Given the description of an element on the screen output the (x, y) to click on. 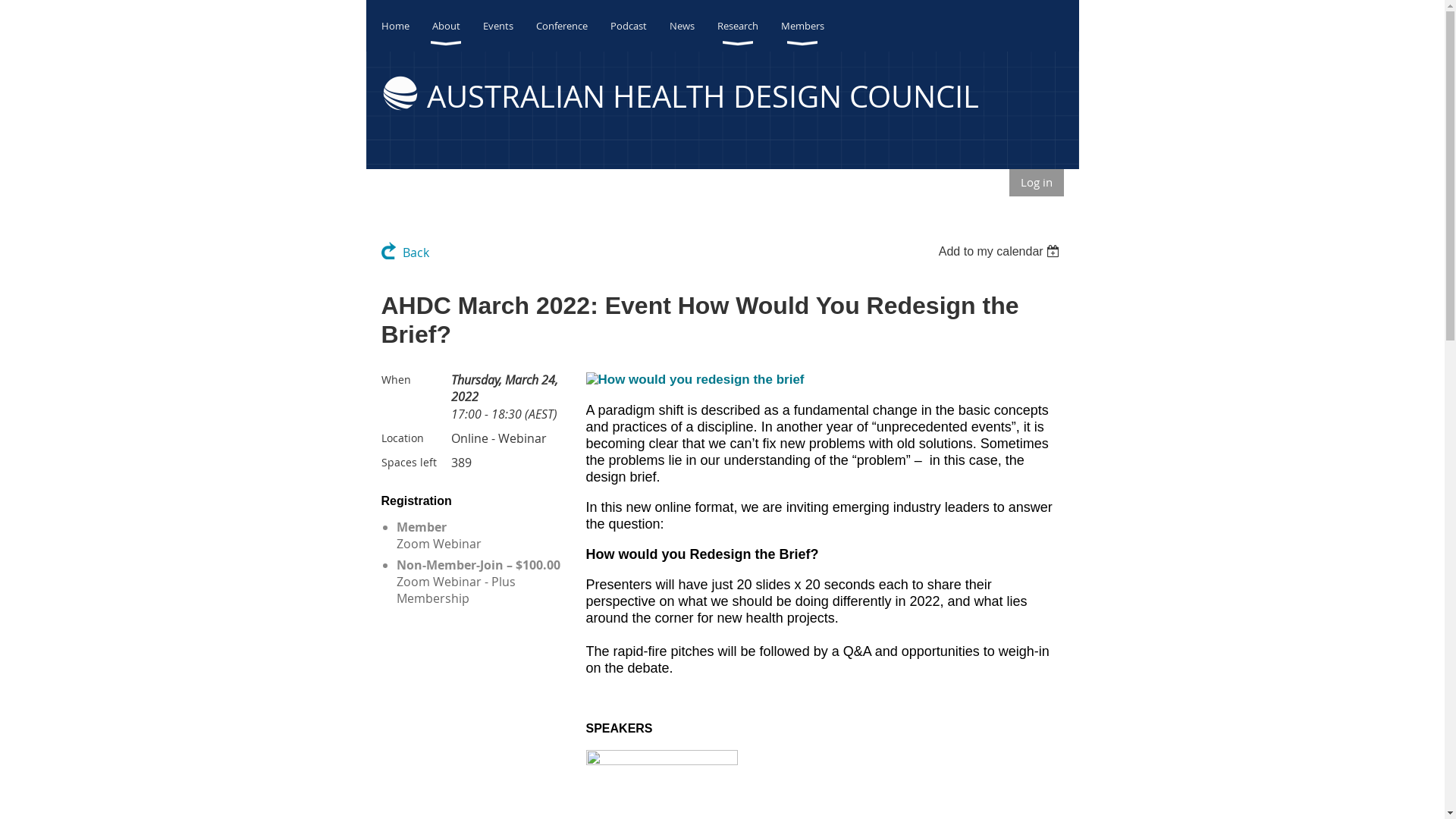
Events Element type: text (508, 25)
How would you redesign the brief Element type: hover (694, 379)
Back Element type: text (404, 250)
Log in Element type: text (1035, 182)
Members Element type: text (814, 25)
Podcast Element type: text (638, 25)
News Element type: text (692, 25)
Conference Element type: text (572, 25)
About Element type: text (457, 25)
Home Element type: text (405, 25)
Research Element type: text (749, 25)
